Given the description of an element on the screen output the (x, y) to click on. 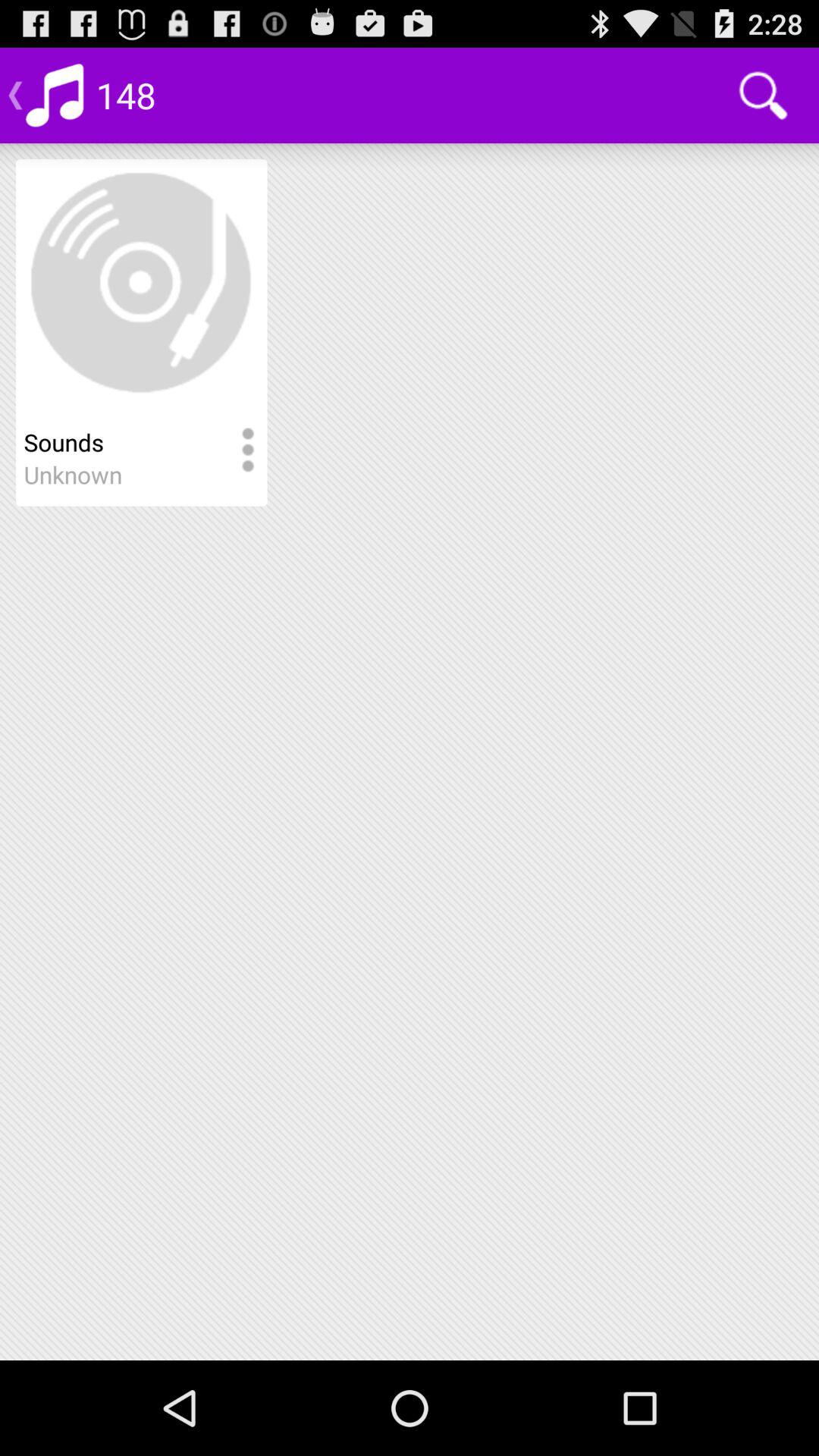
more option (247, 450)
